Given the description of an element on the screen output the (x, y) to click on. 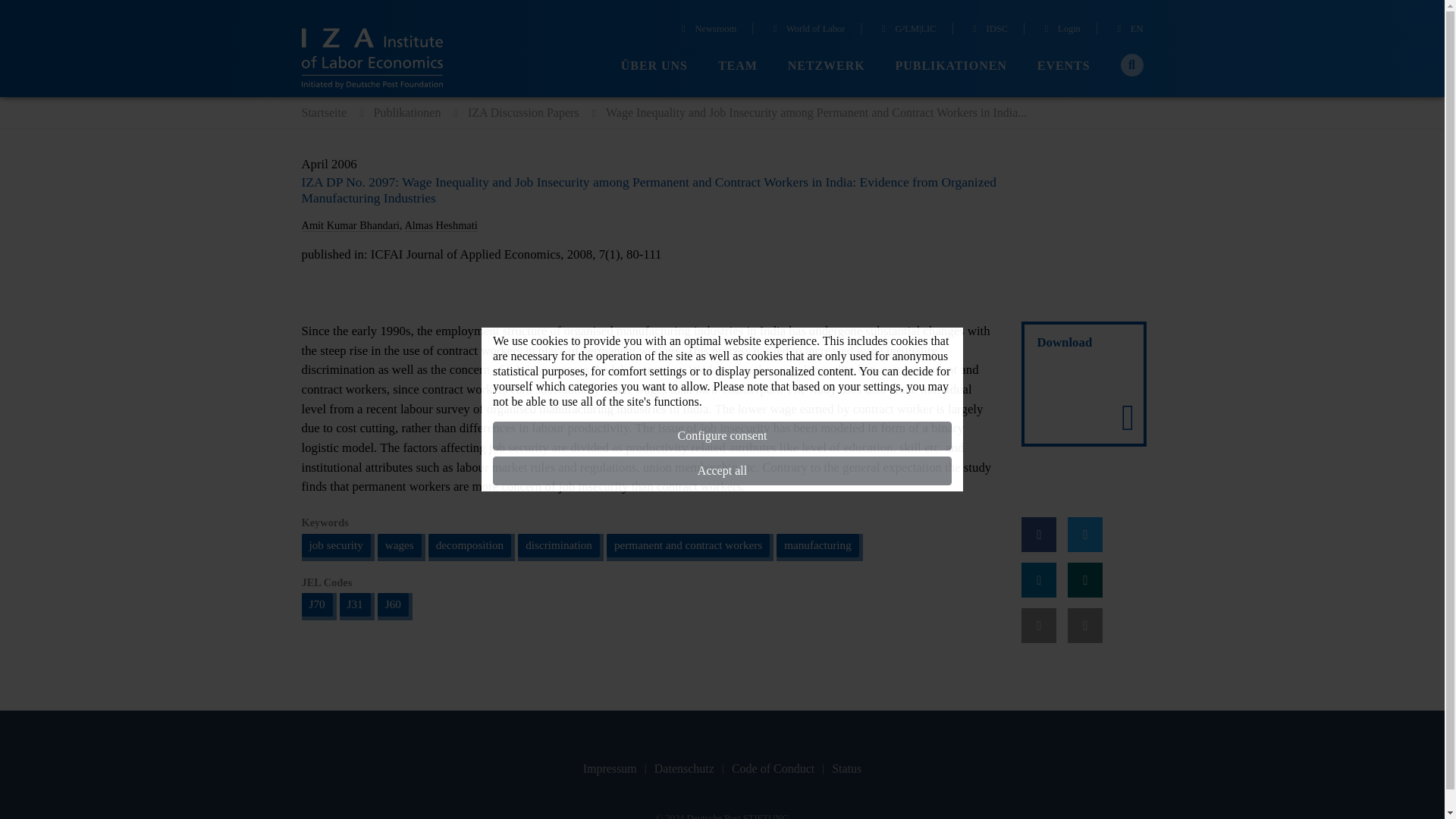
TEAM (737, 66)
IDSC (988, 30)
NETZWERK (825, 66)
EN (1127, 30)
EVENTS (1063, 66)
Newsroom (707, 30)
Login (1060, 30)
World of Labor (807, 30)
PUBLIKATIONEN (951, 66)
